Given the description of an element on the screen output the (x, y) to click on. 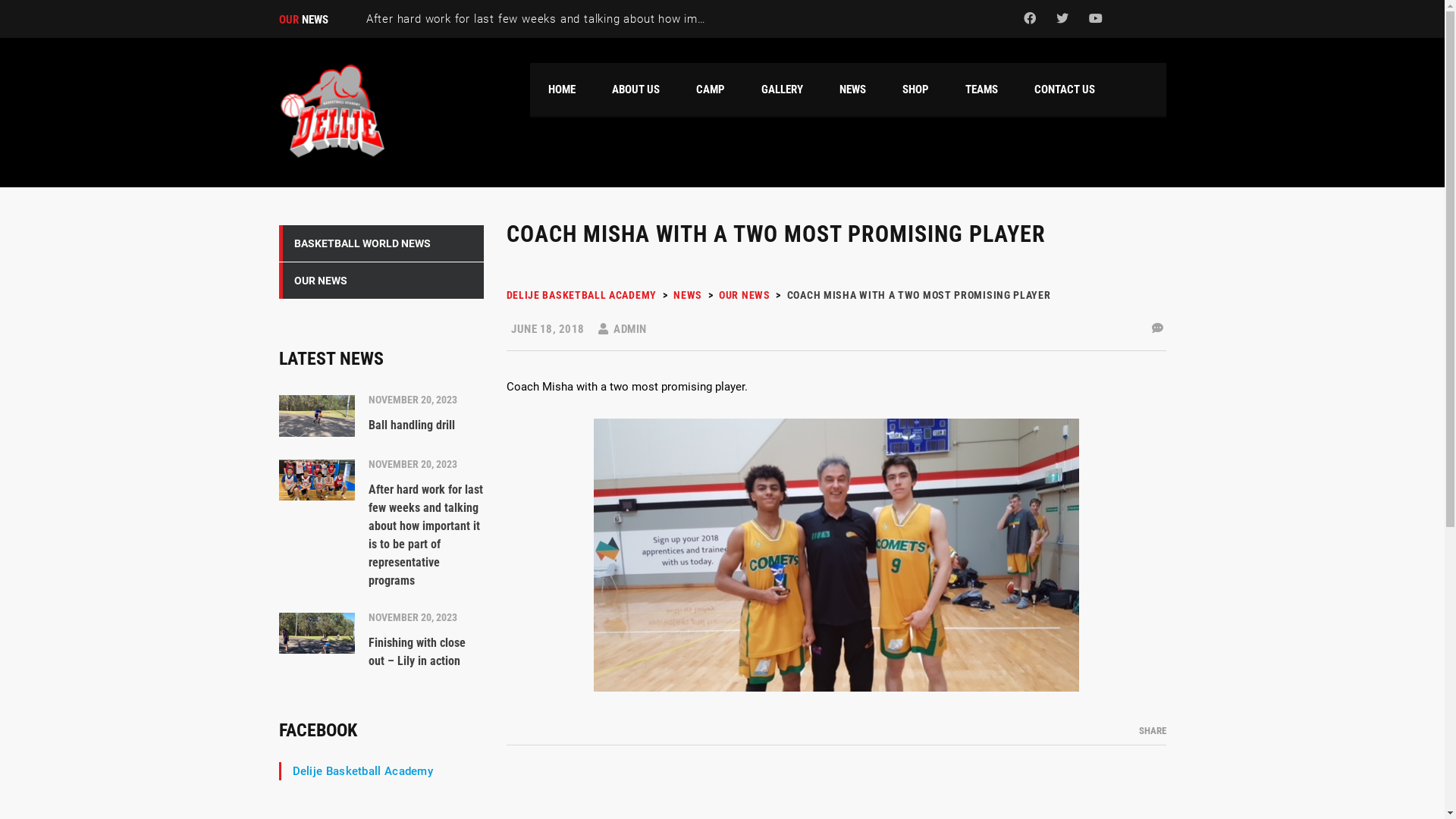
NEWS Element type: text (687, 294)
News Element type: text (763, 618)
GALLERY Element type: text (782, 89)
BASKETBALL WORLD NEWS Element type: text (381, 243)
Camp Element type: text (763, 644)
OUR NEWS Element type: text (381, 280)
Contact Us Element type: text (777, 670)
SHOP Element type: text (915, 89)
Teams Element type: text (766, 541)
NEWS Element type: text (851, 89)
OUR NEWS Element type: text (744, 294)
Privacy and Cookie Policy Element type: text (1114, 783)
Delije Basketball Academy Element type: text (362, 771)
About us Element type: text (771, 515)
NOVEMBER 20, 2023
Ball handling drill Element type: text (381, 412)
CONTACT US Element type: text (1064, 89)
ABOUT US Element type: text (635, 89)
CAMP Element type: text (710, 89)
Home Element type: hover (332, 110)
HOME Element type: text (561, 89)
TEAMS Element type: text (980, 89)
Gallery Element type: text (766, 567)
Shopping Element type: text (772, 592)
misha@delijebasketballacademy.com.au Element type: text (1073, 619)
Ball handling drill Element type: text (599, 534)
DELIJE BASKETBALL ACADEMY Element type: text (581, 294)
